Given the description of an element on the screen output the (x, y) to click on. 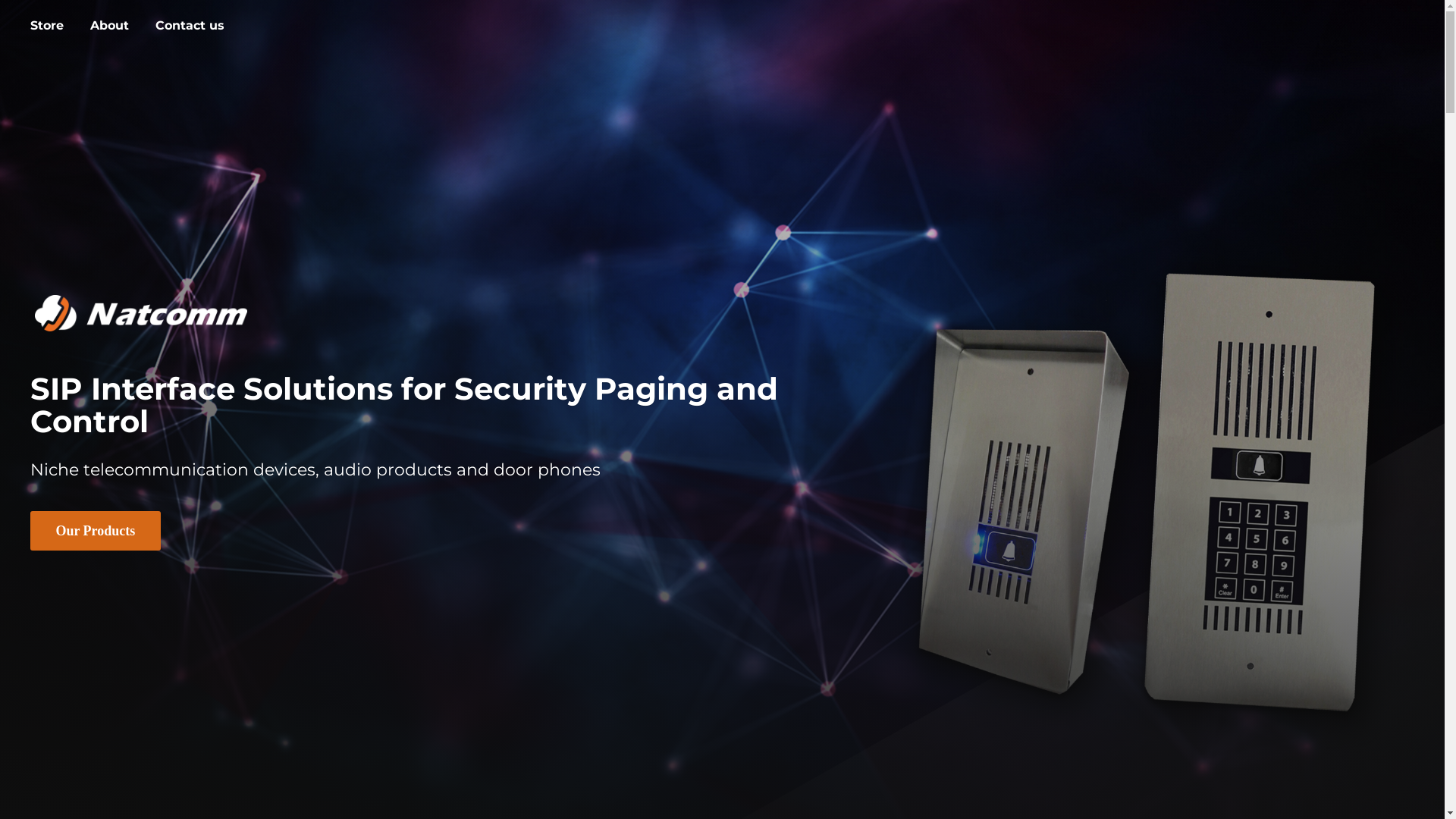
Store Element type: text (46, 26)
Contact us Element type: text (189, 26)
Our Products Element type: text (95, 530)
About Element type: text (109, 26)
